Given the description of an element on the screen output the (x, y) to click on. 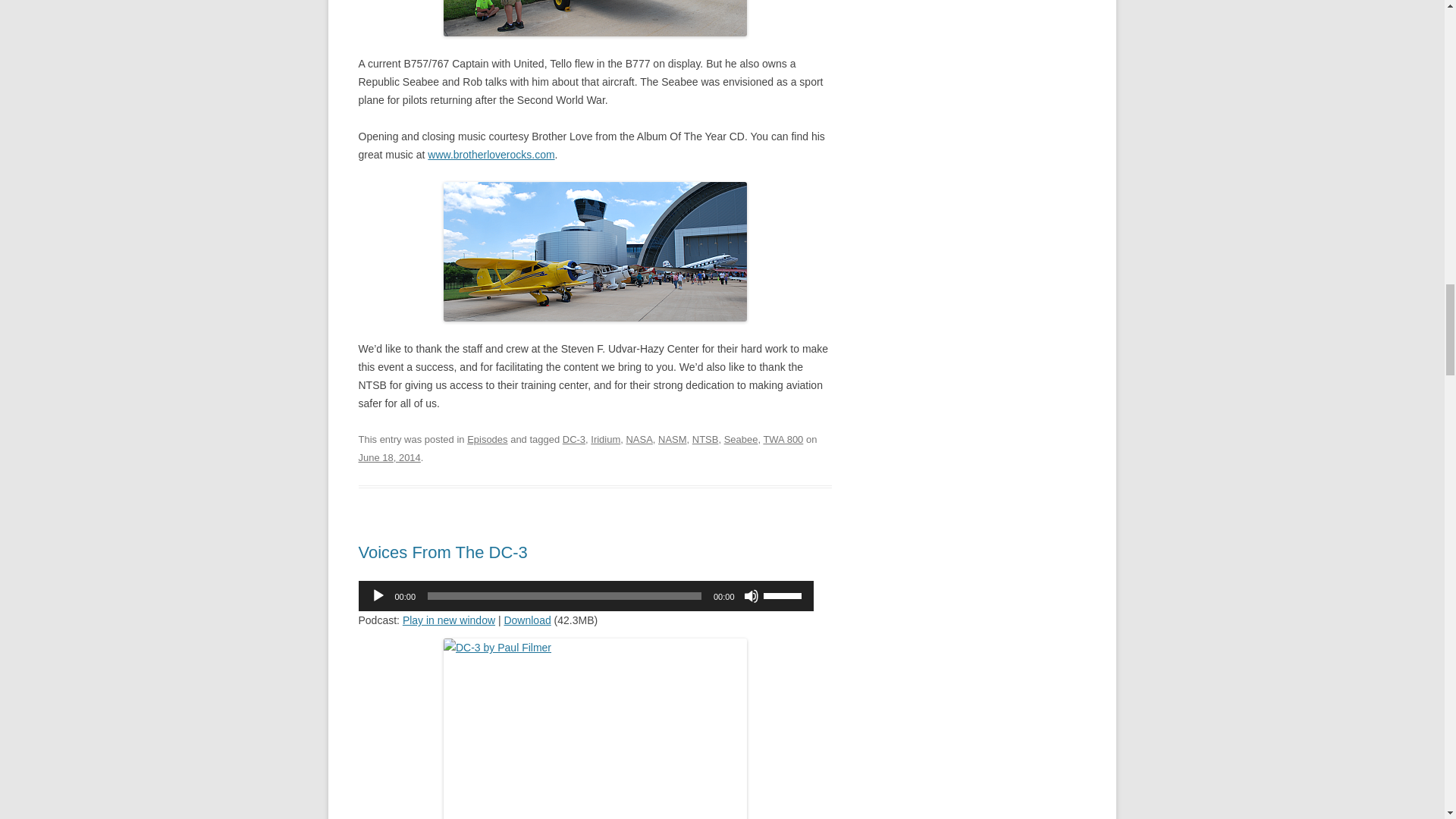
Download (526, 620)
NASM (672, 439)
Episodes (486, 439)
DC-3 by Paul Filmer (595, 728)
TWA 800 (782, 439)
Iridium (605, 439)
4:22 am (389, 457)
DC-3 (573, 439)
www.brotherloverocks.com (491, 154)
NASA (639, 439)
Mute (750, 595)
Play (377, 595)
NTSB (706, 439)
Seabee (740, 439)
Play in new window (449, 620)
